Given the description of an element on the screen output the (x, y) to click on. 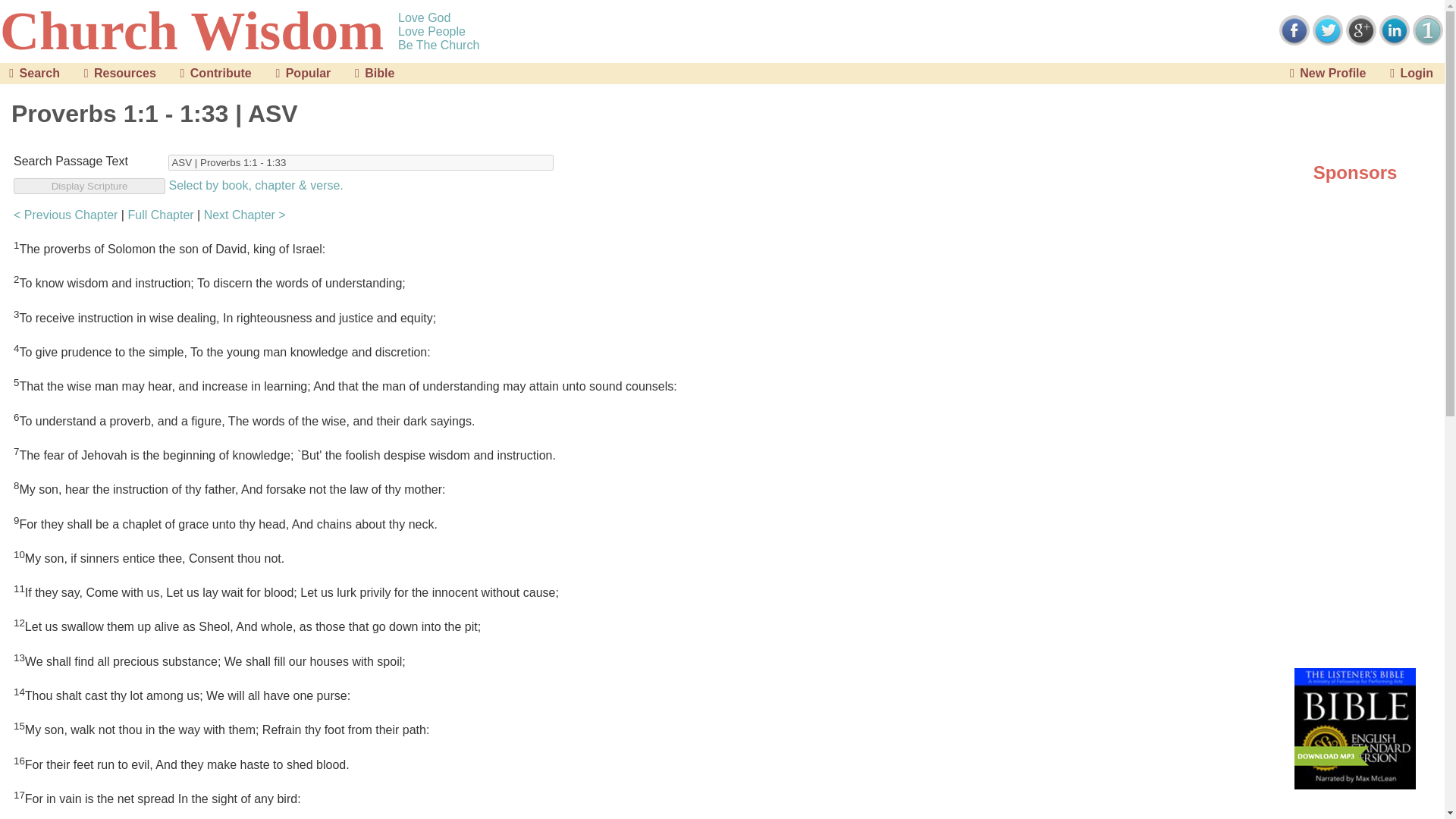
Download MP3 Audio Bible (1354, 728)
Contribute (212, 72)
Be The Church (438, 43)
Share this page on facebook (1293, 30)
Full Chapter (160, 214)
Display Scripture (89, 186)
Search (31, 72)
New Profile (1325, 72)
Login (1408, 72)
Love People (431, 30)
Resources (116, 72)
Church Wisdom (192, 30)
Bible (371, 72)
Love God (423, 16)
Share this page on twitter (1327, 30)
